Given the description of an element on the screen output the (x, y) to click on. 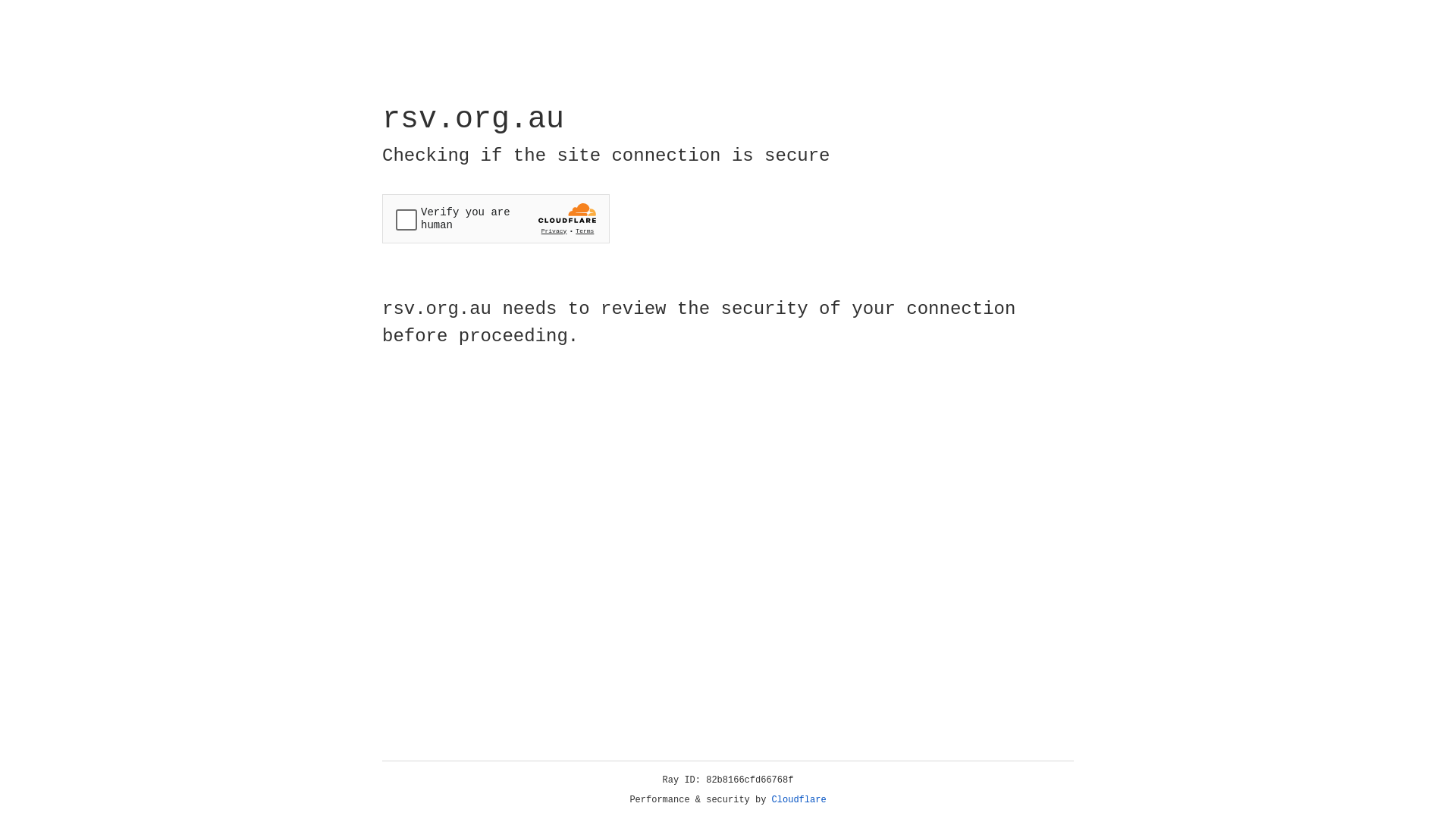
Widget containing a Cloudflare security challenge Element type: hover (495, 218)
Cloudflare Element type: text (798, 799)
